Given the description of an element on the screen output the (x, y) to click on. 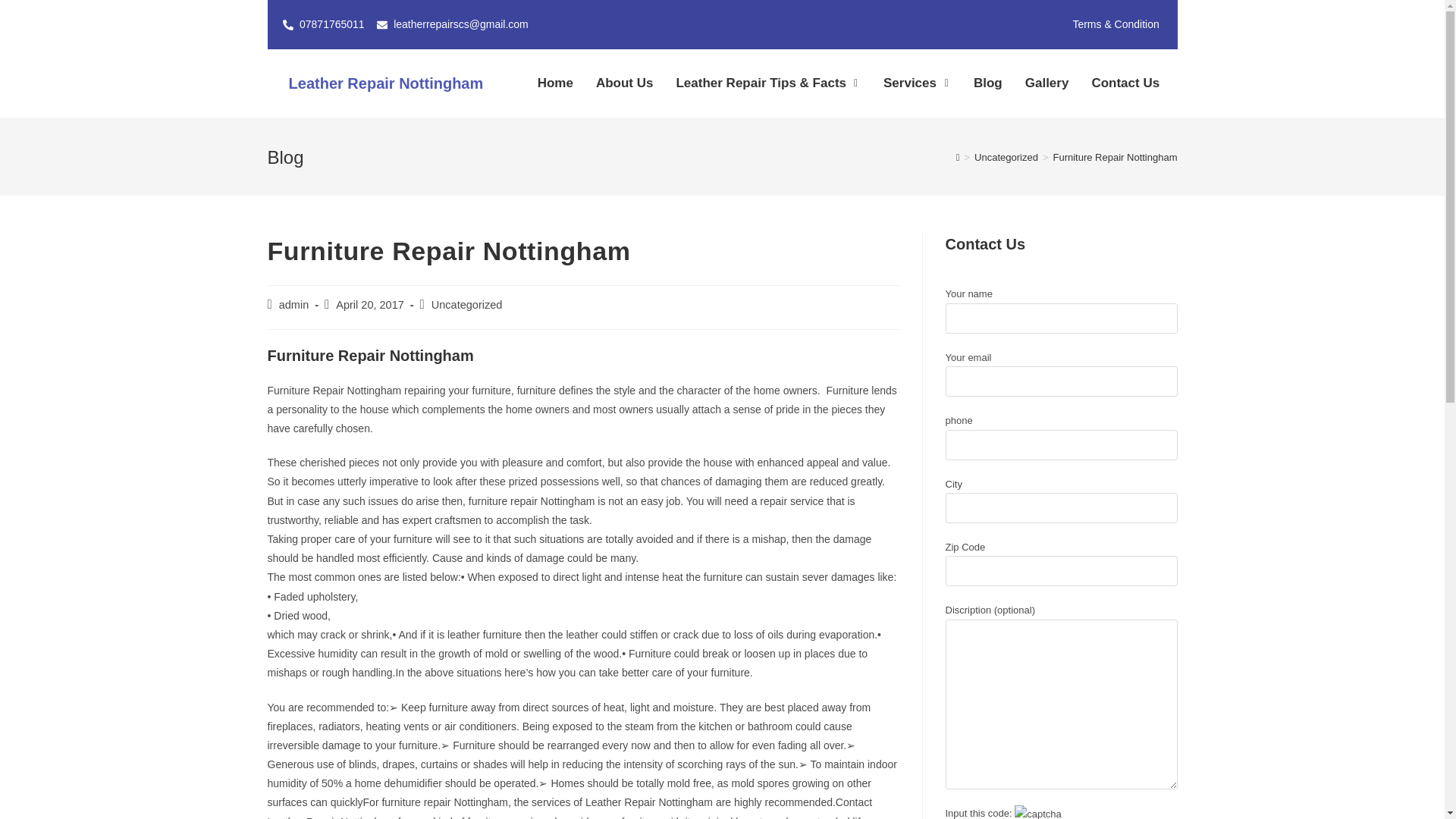
About Us (619, 83)
Services (905, 83)
Furniture Repair Nottingham (1114, 156)
07871765011 (323, 24)
Uncategorized (466, 304)
Uncategorized (1006, 156)
Contact Us (1119, 83)
Gallery (1040, 83)
Leather Repair Nottingham (385, 83)
admin (293, 304)
